Given the description of an element on the screen output the (x, y) to click on. 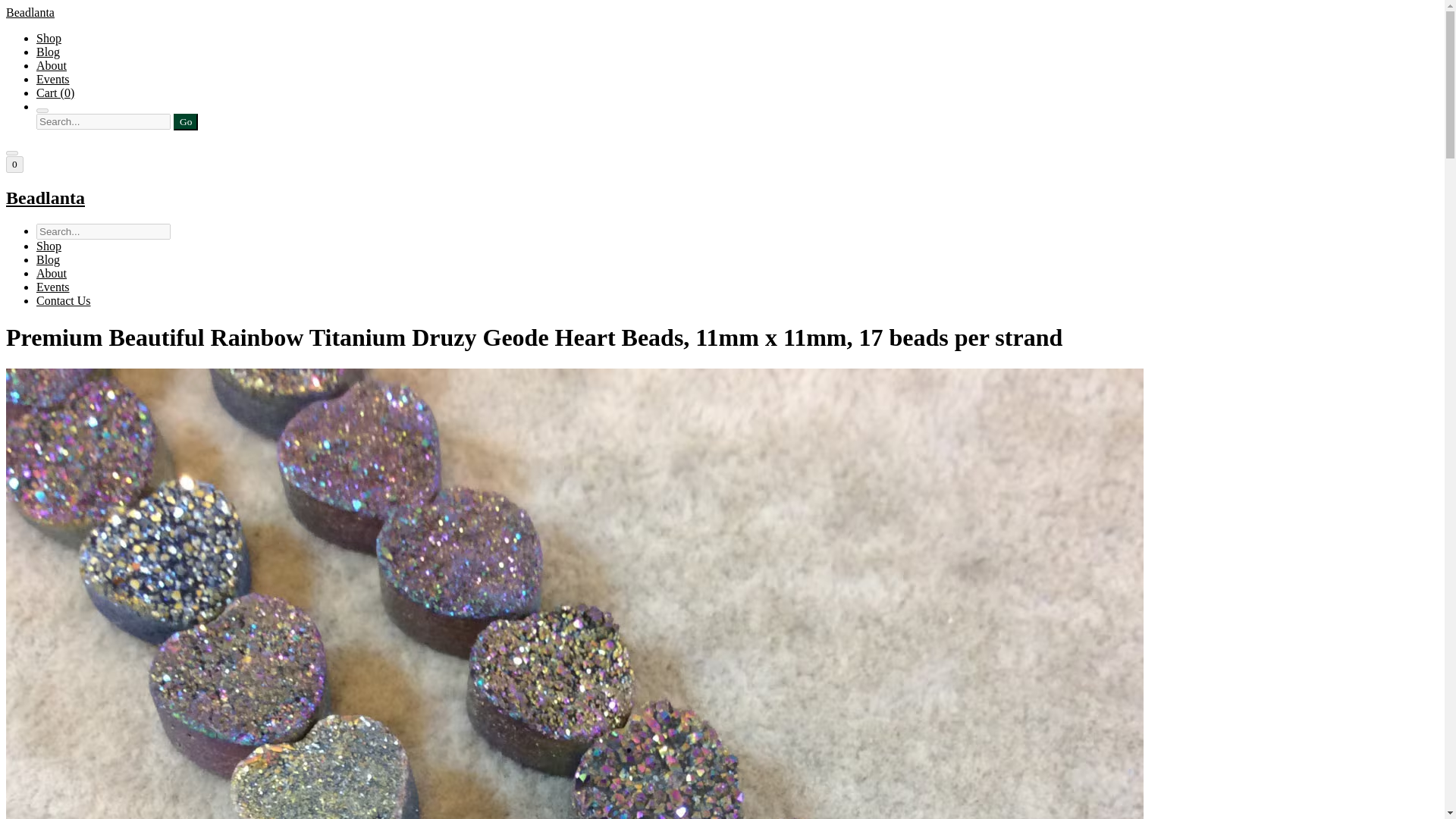
Shop (48, 245)
0 (14, 164)
Contact Us (63, 300)
About (51, 65)
Events (52, 286)
Shop (48, 38)
Blog (47, 51)
Blog (47, 259)
About (51, 273)
Events (52, 78)
